Given the description of an element on the screen output the (x, y) to click on. 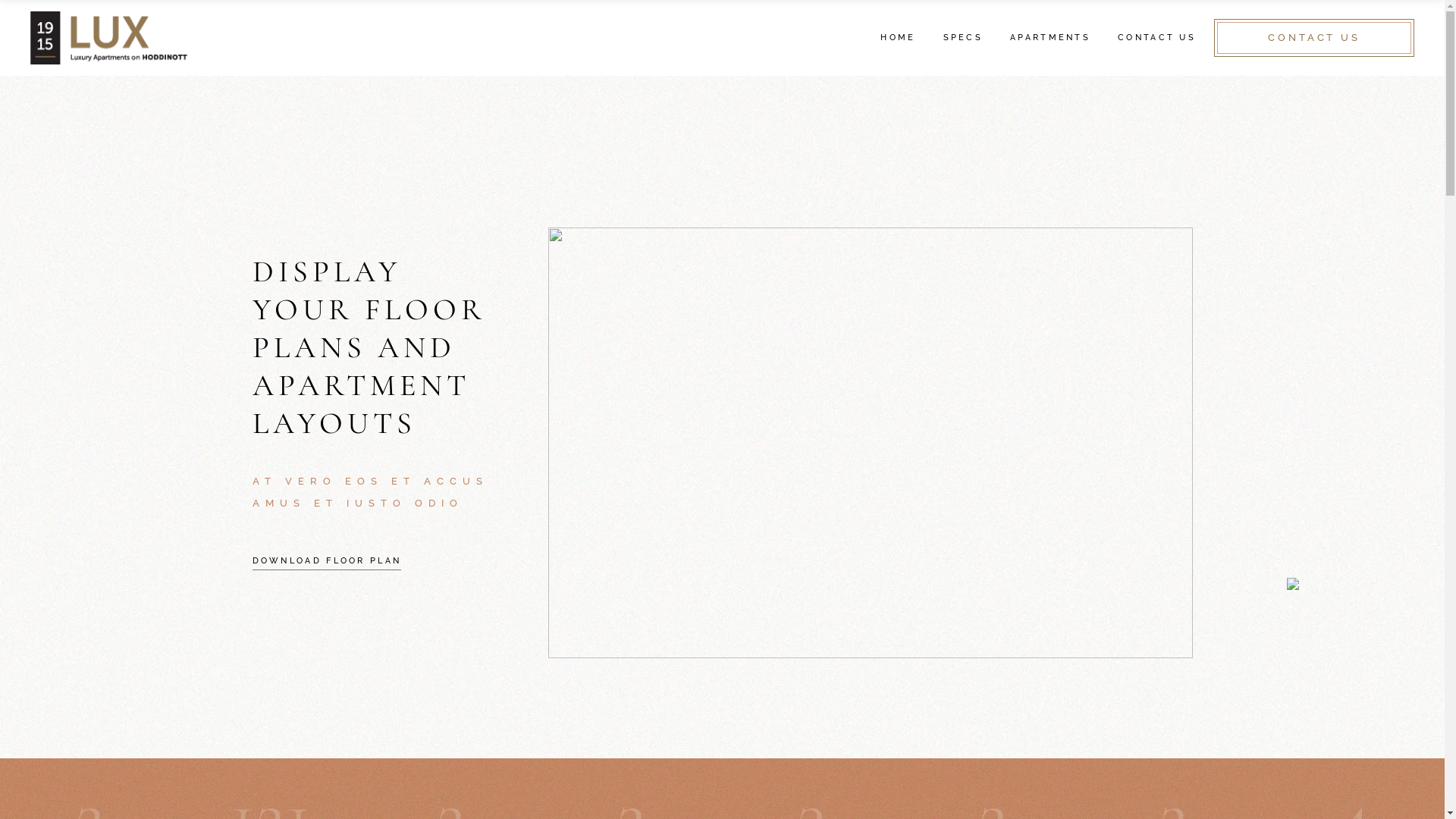
HOME Element type: text (897, 37)
CONTACT US Element type: text (1156, 37)
SPECS Element type: text (963, 37)
DOWNLOAD FLOOR PLAN Element type: text (326, 561)
APARTMENTS Element type: text (1050, 37)
CONTACT US Element type: text (1314, 37)
